Given the description of an element on the screen output the (x, y) to click on. 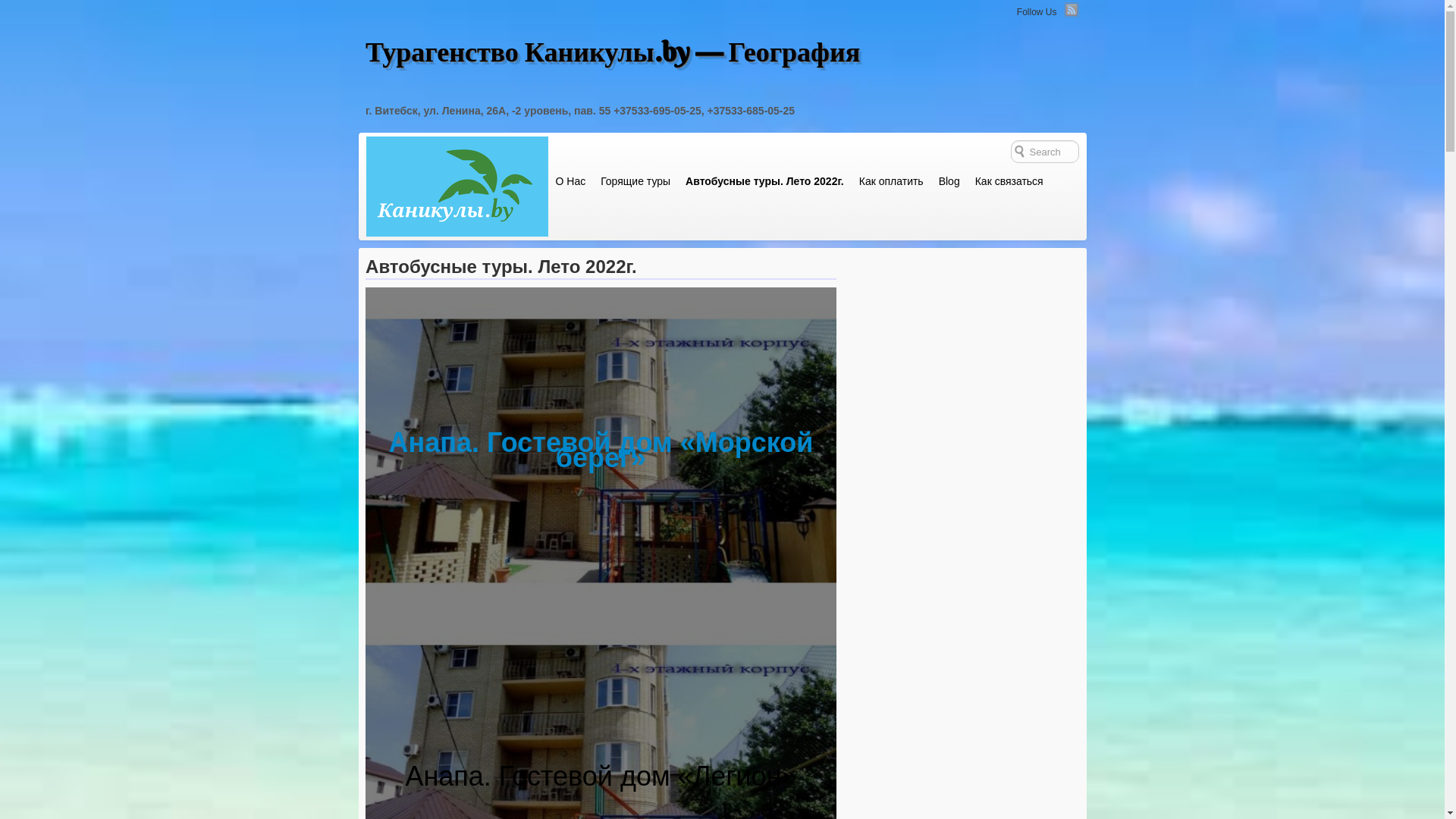
Blog Element type: text (949, 181)
RSS Feed Element type: text (1070, 9)
Search Element type: text (22, 9)
